Given the description of an element on the screen output the (x, y) to click on. 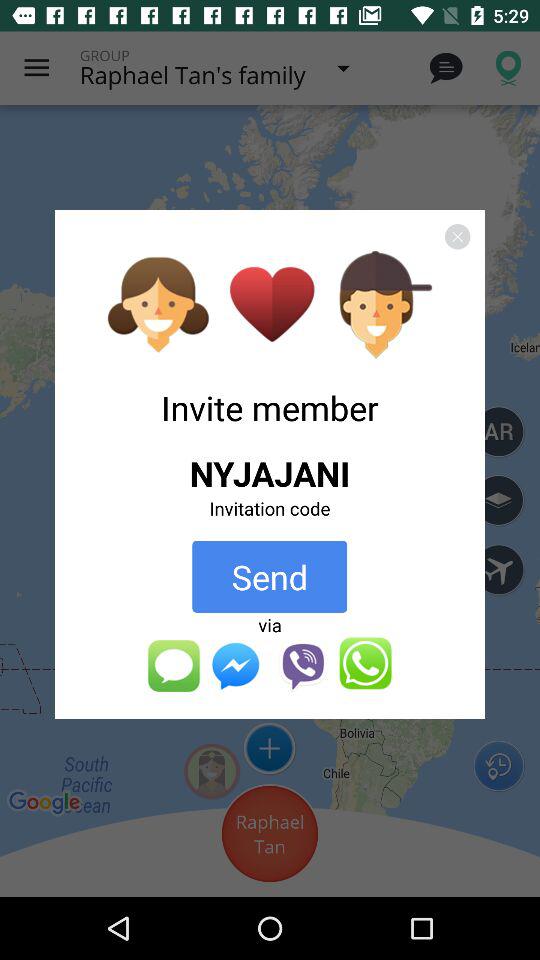
turn off send item (269, 576)
